Given the description of an element on the screen output the (x, y) to click on. 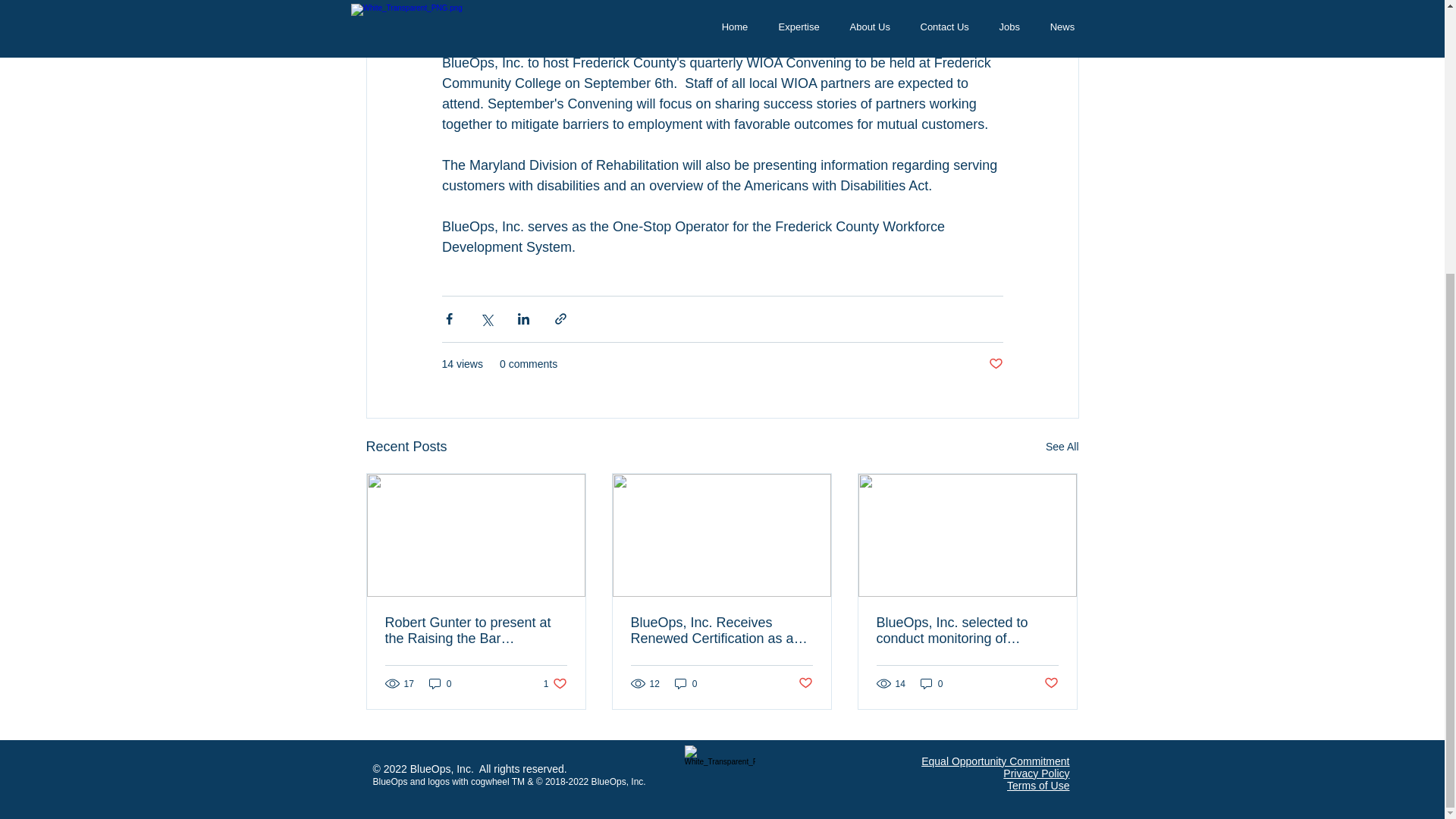
0 (440, 683)
Post not marked as liked (804, 683)
Privacy Policy (1035, 773)
0 (931, 683)
Post not marked as liked (995, 364)
0 (685, 683)
See All (1061, 446)
Post not marked as liked (1050, 683)
Robert Gunter to present at the Raising the Bar Conference (476, 631)
Terms of Use (1037, 785)
Equal Opportunity Commitment (994, 761)
